Given the description of an element on the screen output the (x, y) to click on. 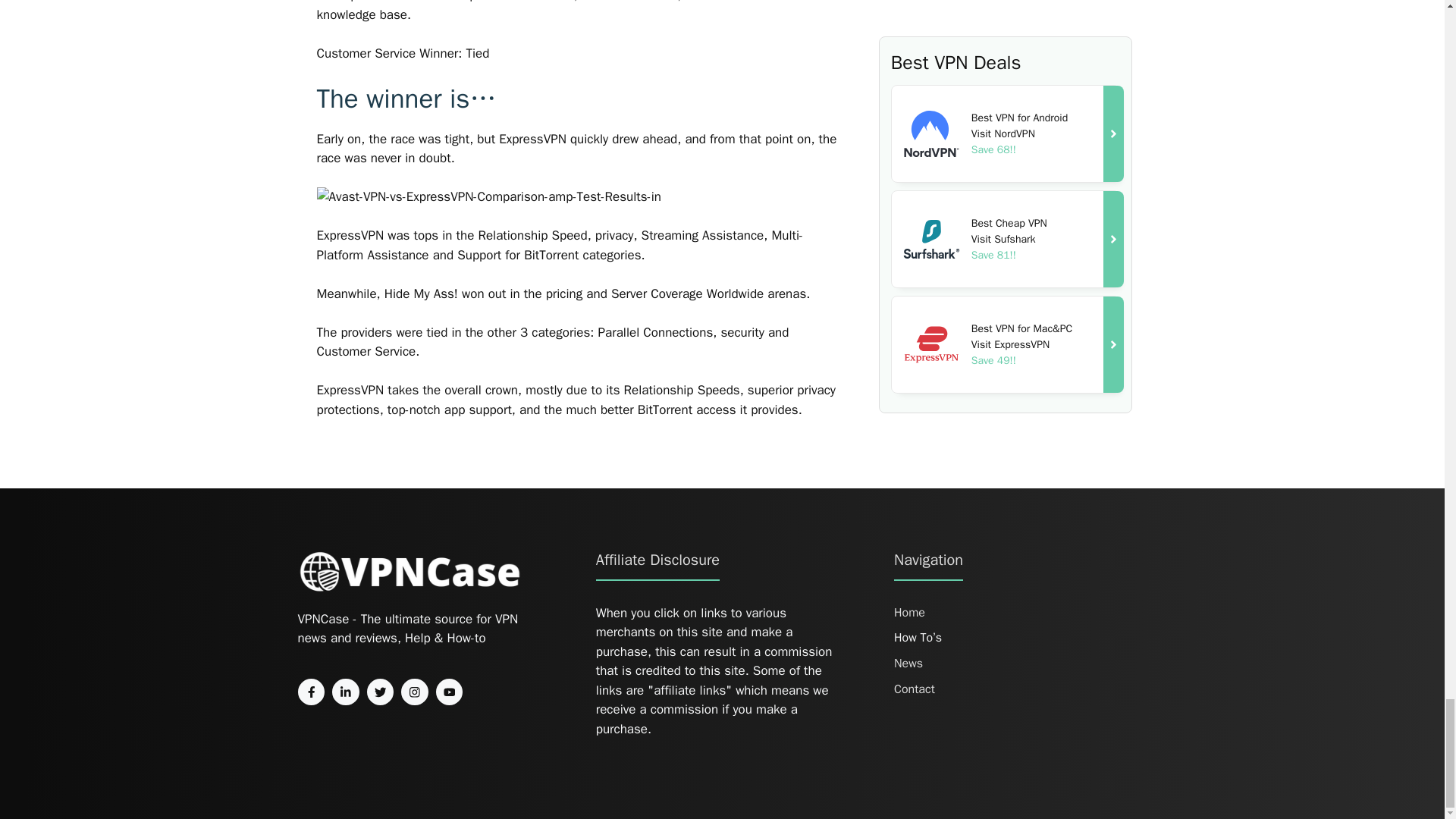
News (908, 663)
Contact (913, 689)
Home (908, 612)
